Given the description of an element on the screen output the (x, y) to click on. 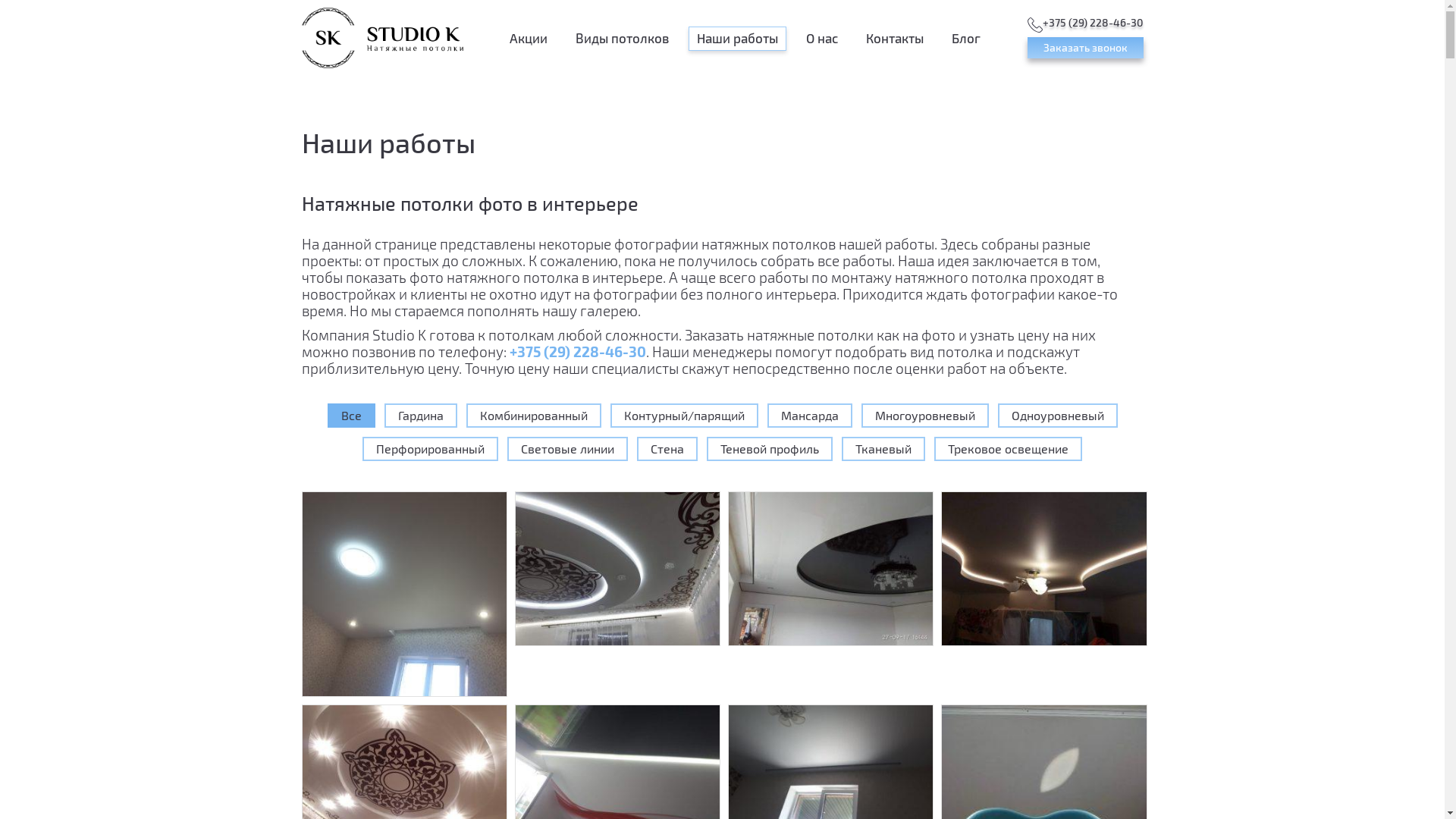
+375 (29) 228-46-30 Element type: text (577, 351)
+375 (29) 228-46-30 Element type: text (1084, 24)
